Given the description of an element on the screen output the (x, y) to click on. 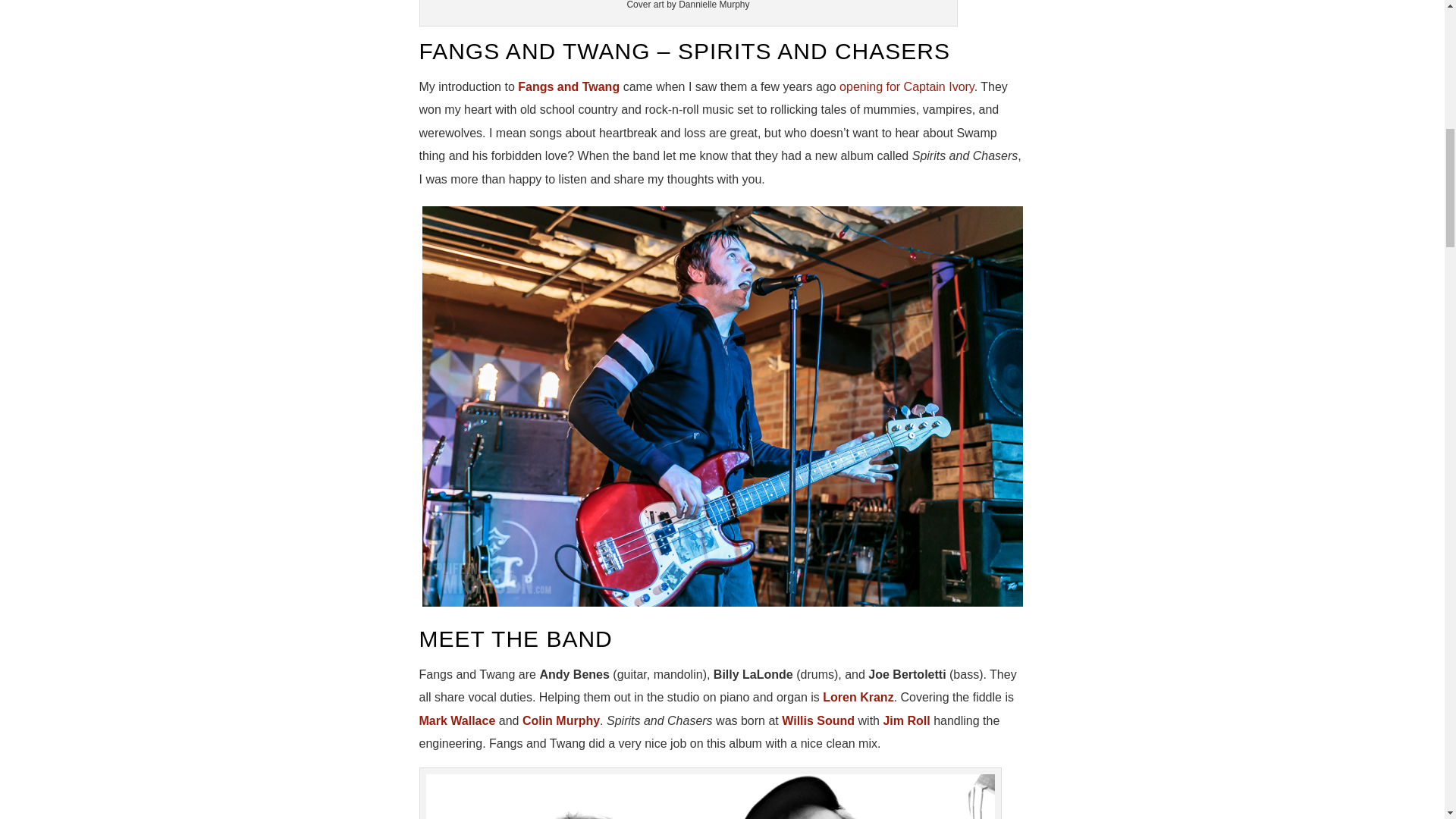
Fangs and Twang (570, 86)
